Given the description of an element on the screen output the (x, y) to click on. 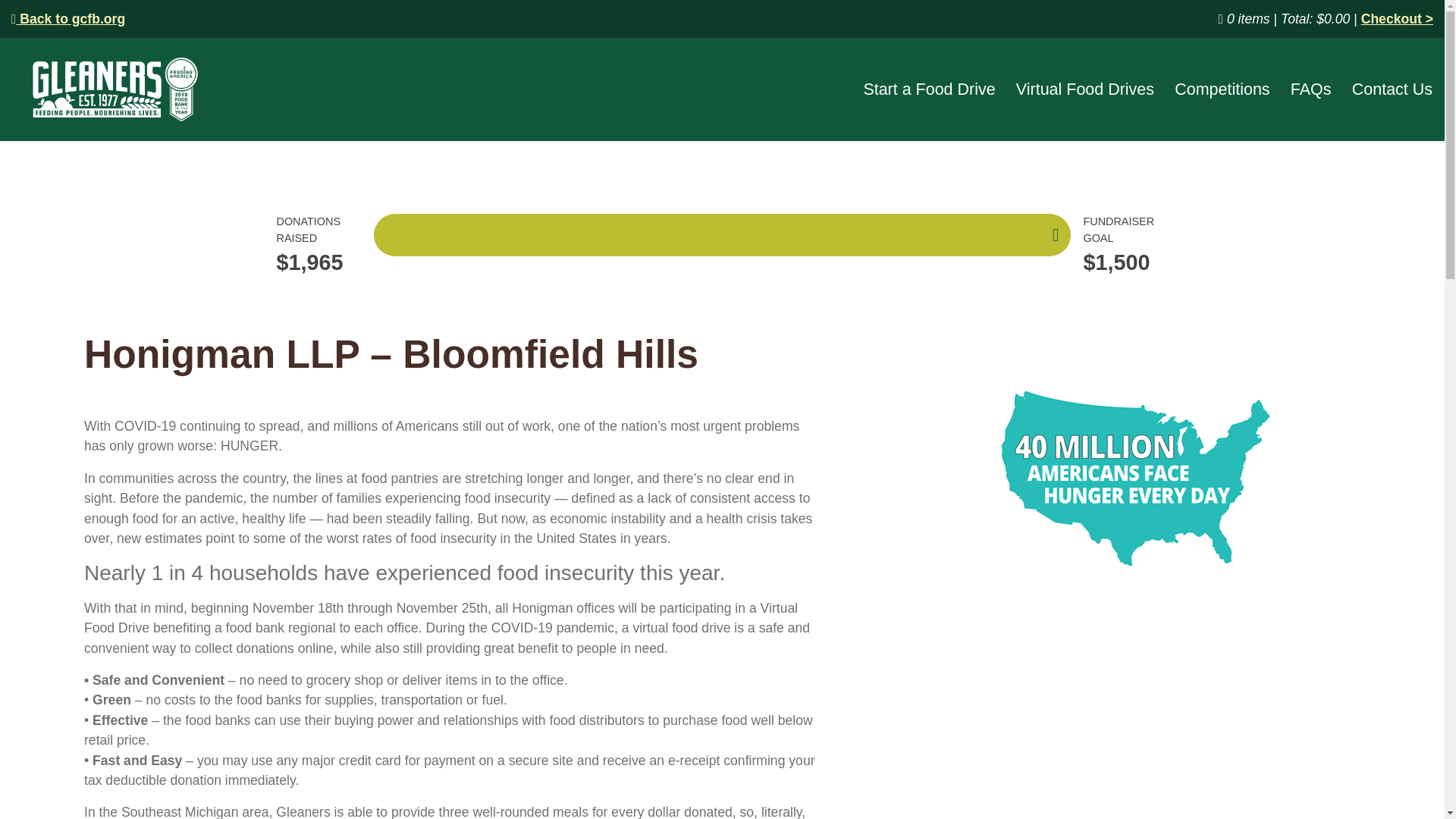
Virtual Food Drives (1085, 88)
FAQs (1311, 88)
Start a Food Drive (928, 88)
Back to gcfb.org (68, 18)
Contact Us (1392, 88)
Competitions (1221, 88)
